Given the description of an element on the screen output the (x, y) to click on. 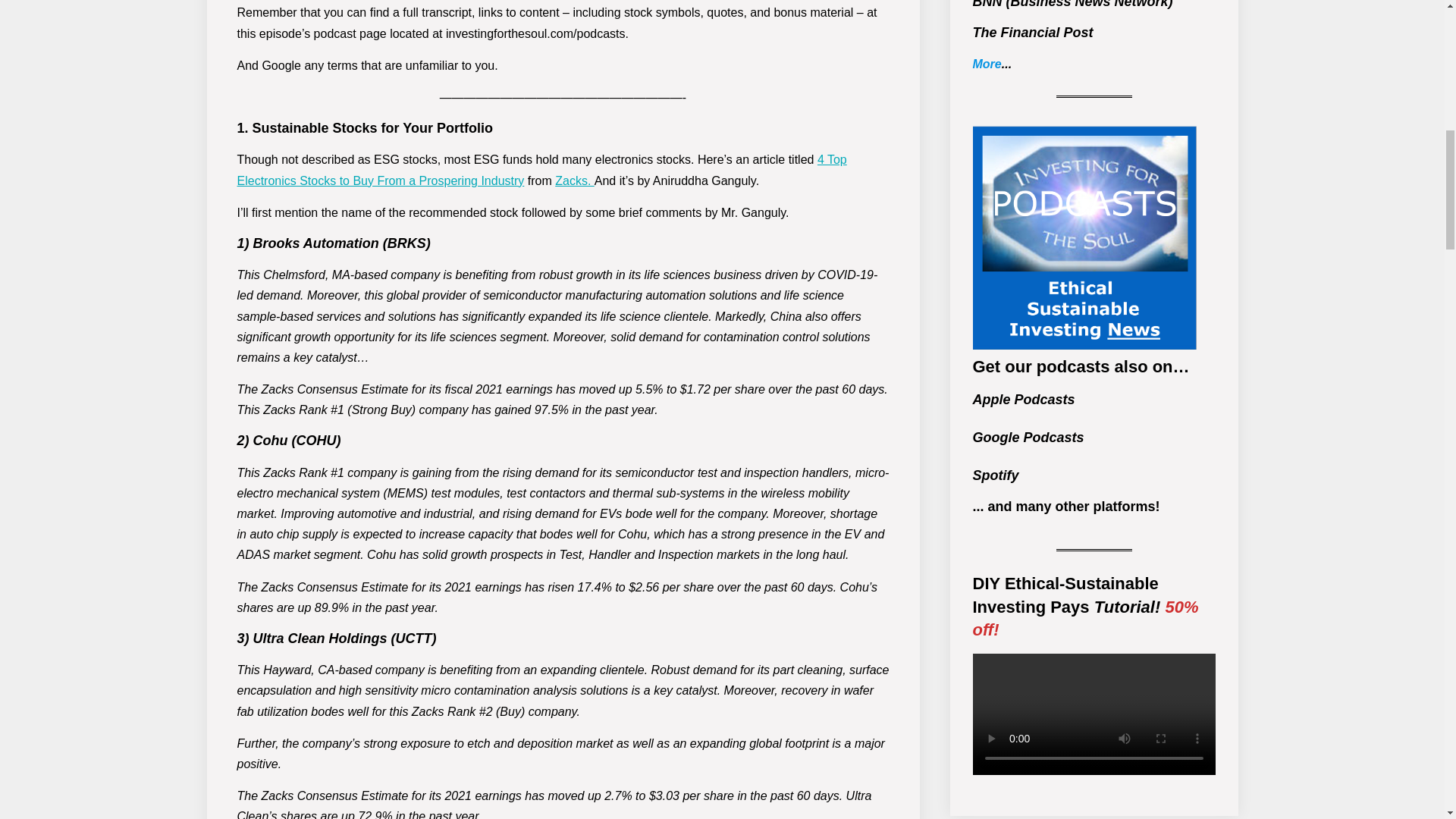
UCTT (414, 638)
Zacks. (574, 180)
COHU (315, 440)
4 Top Electronics Stocks to Buy From a Prospering Industry (540, 169)
